Given the description of an element on the screen output the (x, y) to click on. 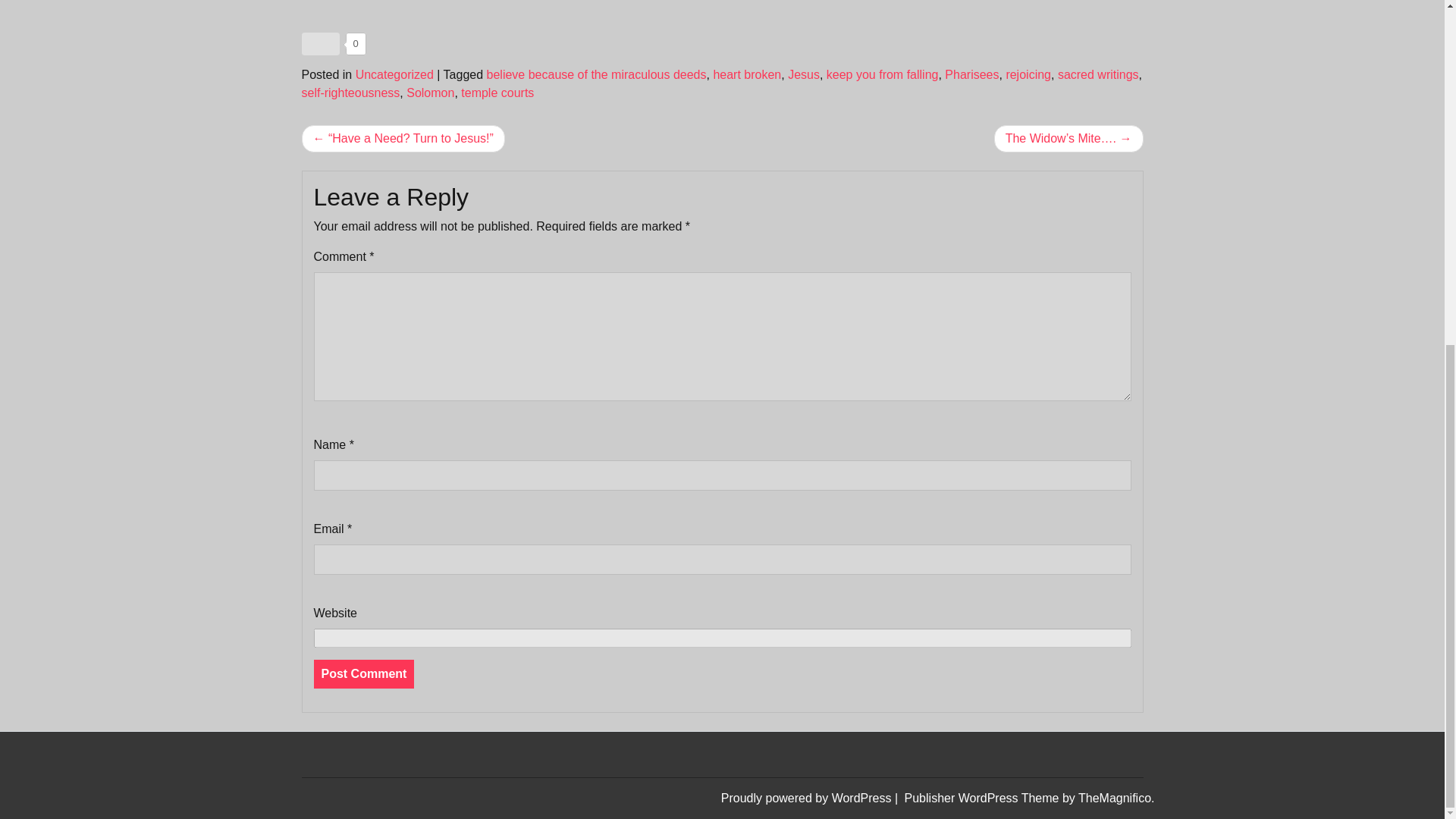
Post Comment (364, 674)
Publisher WordPress Theme (983, 797)
self-righteousness (350, 92)
Pharisees (971, 74)
keep you from falling (883, 74)
temple courts (497, 92)
rejoicing (1028, 74)
Solomon (430, 92)
Post Comment (364, 674)
Proudly powered by WordPress (807, 797)
Jesus (803, 74)
sacred writings (1098, 74)
Uncategorized (394, 74)
believe because of the miraculous deeds (596, 74)
heart broken (746, 74)
